Given the description of an element on the screen output the (x, y) to click on. 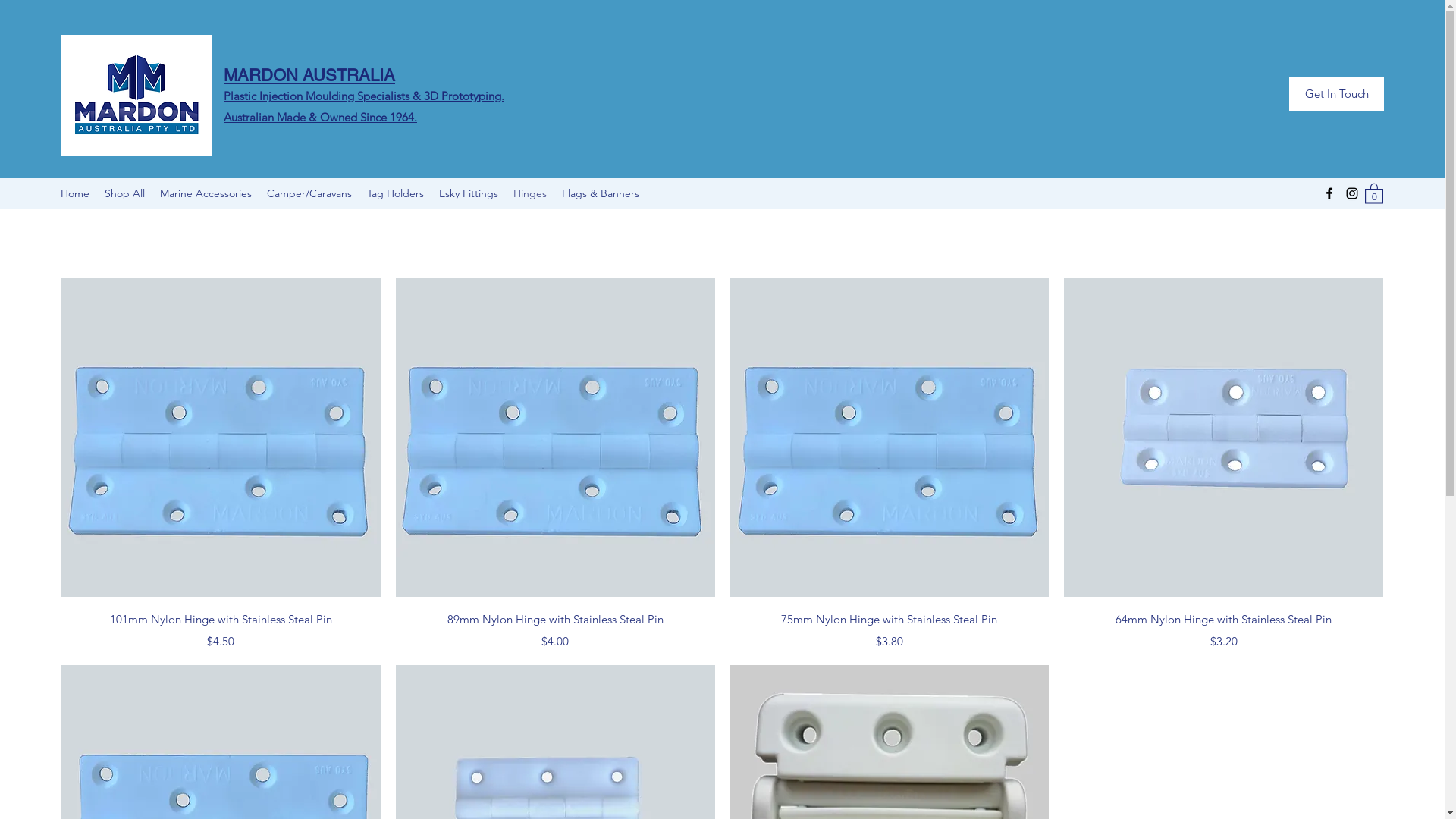
MARDON AUSTRALIA Element type: text (309, 74)
75mm Nylon Hinge with Stainless Steal Pin
Price
$3.80 Element type: text (888, 629)
Home Element type: text (75, 193)
101mm Nylon Hinge with Stainless Steal Pin
Price
$4.50 Element type: text (220, 629)
Get In Touch Element type: text (1336, 94)
Marine Accessories Element type: text (205, 193)
Hinges Element type: text (529, 193)
Shop All Element type: text (124, 193)
0 Element type: text (1374, 192)
64mm Nylon Hinge with Stainless Steal Pin
Price
$3.20 Element type: text (1223, 629)
Tag Holders Element type: text (395, 193)
Camper/Caravans Element type: text (309, 193)
Flags & Banners Element type: text (600, 193)
89mm Nylon Hinge with Stainless Steal Pin
Price
$4.00 Element type: text (555, 629)
Esky Fittings Element type: text (468, 193)
